Given the description of an element on the screen output the (x, y) to click on. 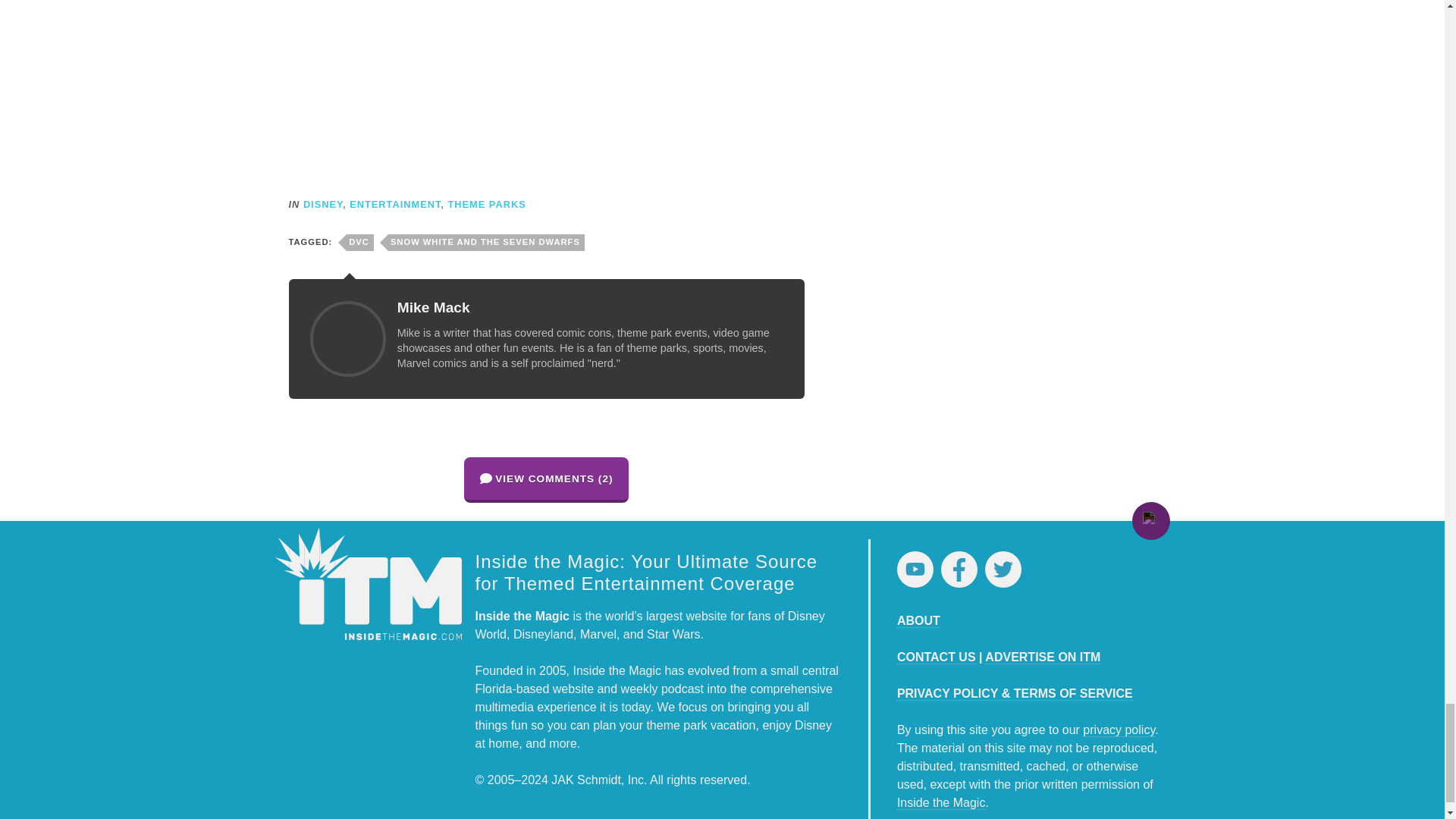
Return to Top (1150, 520)
